Given the description of an element on the screen output the (x, y) to click on. 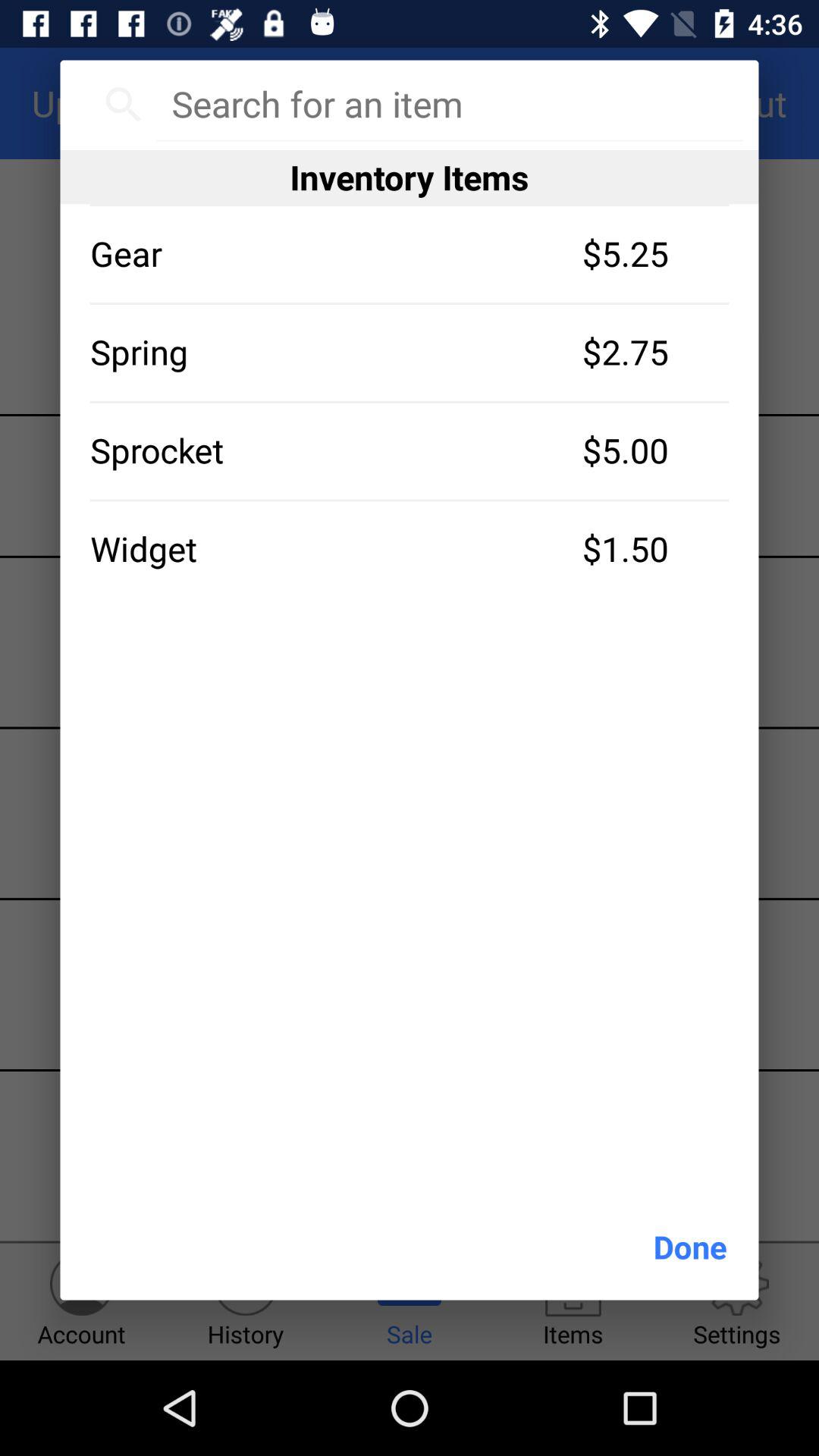
choose item above inventory items icon (448, 103)
